Given the description of an element on the screen output the (x, y) to click on. 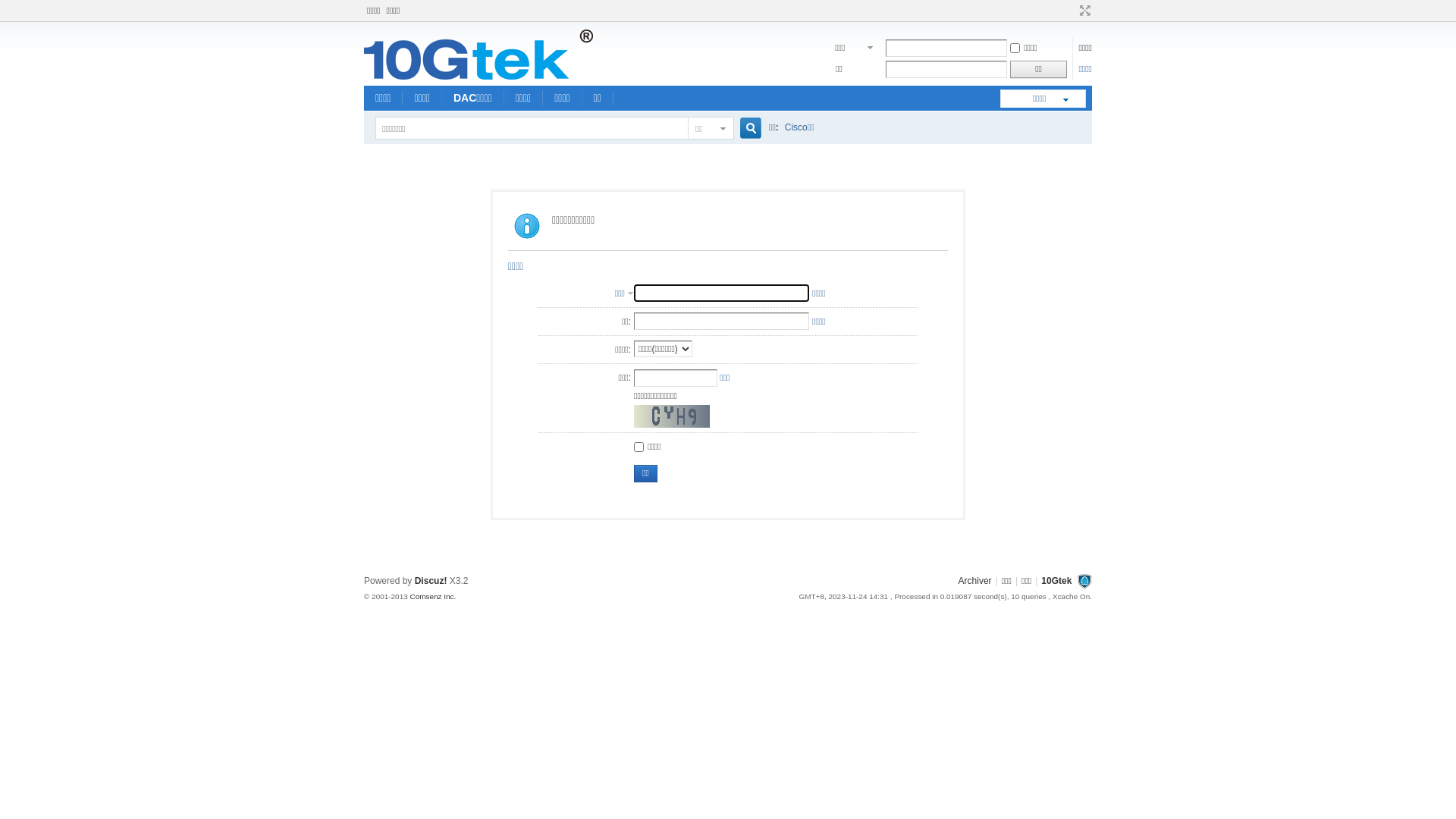
10Gtek Element type: text (1056, 580)
true Element type: text (745, 128)
Comsenz Inc. Element type: text (432, 596)
Discuz! Element type: text (430, 580)
Archiver Element type: text (974, 580)
10Gtek Element type: hover (478, 76)
